Given the description of an element on the screen output the (x, y) to click on. 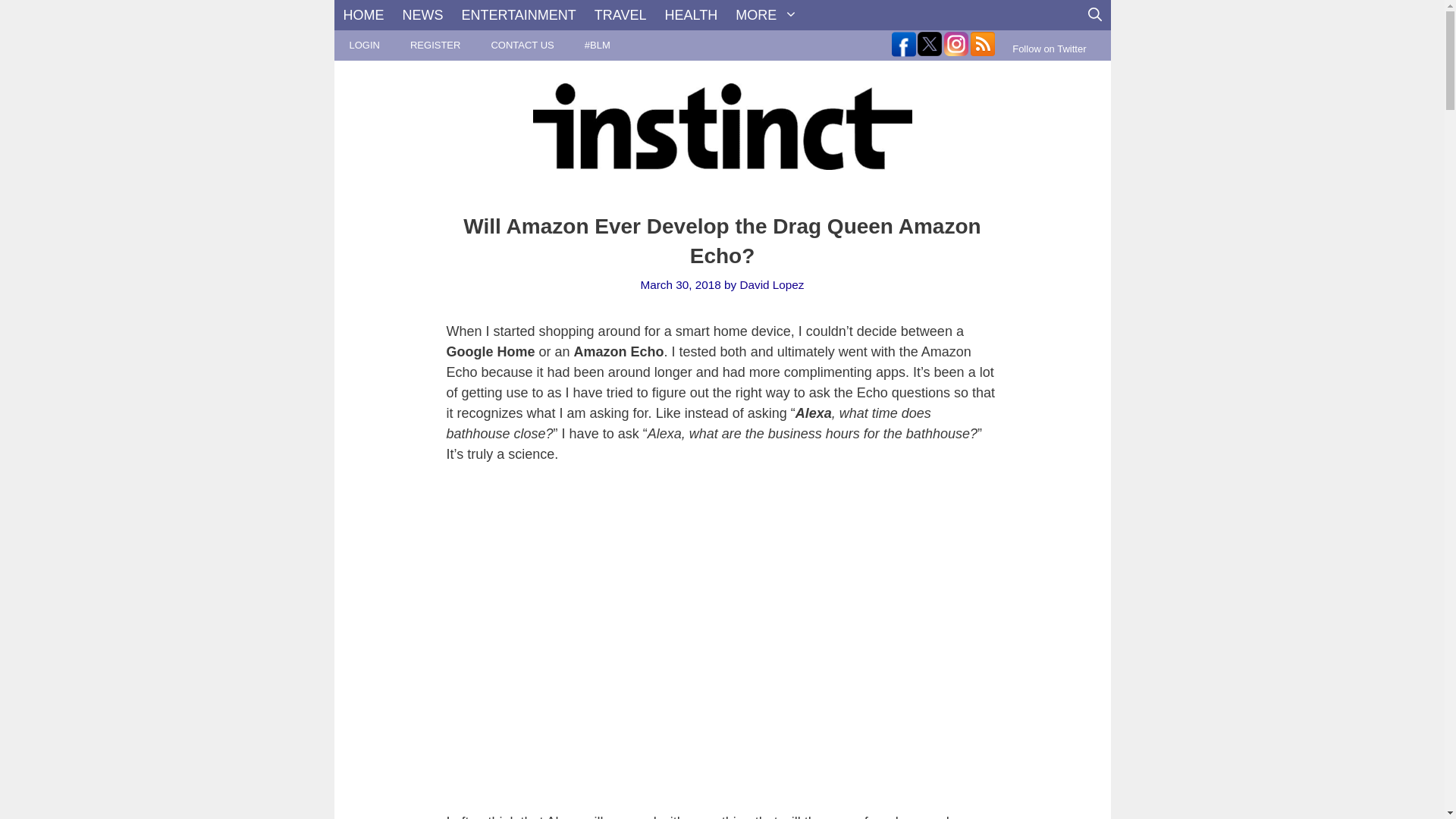
View all posts by David Lopez (771, 284)
MORE (766, 15)
Follow on Twitter (1048, 49)
CONTACT US (522, 45)
ENTERTAINMENT (518, 15)
TRAVEL (620, 15)
HOME (363, 15)
REGISTER (435, 45)
NEWS (422, 15)
LOGIN (363, 45)
